Given the description of an element on the screen output the (x, y) to click on. 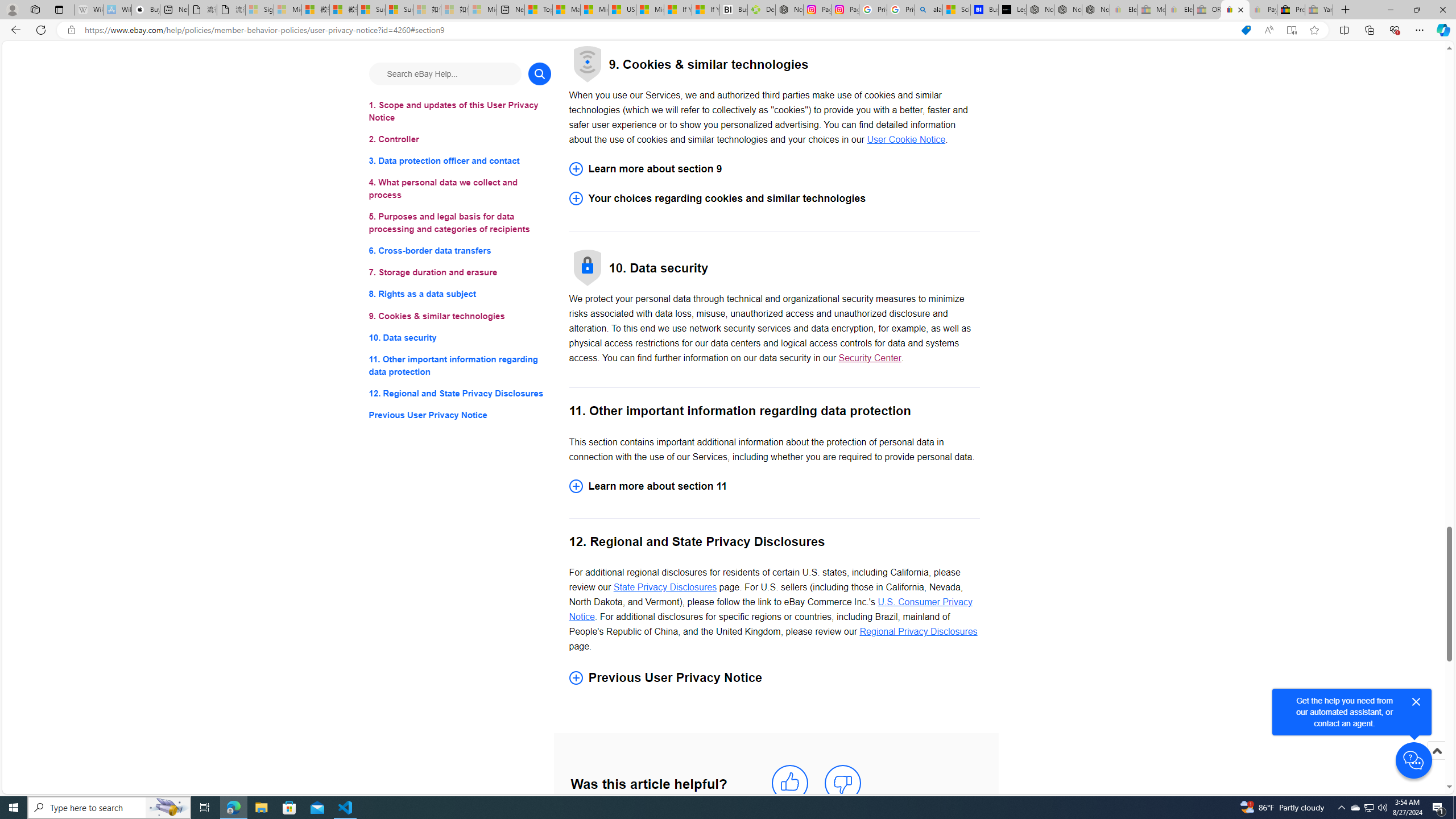
12. Regional and State Privacy Disclosures (459, 392)
State Privacy Disclosures - opens in new window or tab (664, 587)
Payments Terms of Use | eBay.com - Sleeping (1262, 9)
Previous User Privacy Notice (459, 414)
Regional Privacy Disclosures - opens in new window or tab (917, 631)
mark this article helpful (789, 782)
Scroll to top (1435, 750)
9. Cookies & similar technologies (459, 315)
1. Scope and updates of this User Privacy Notice (459, 111)
